Given the description of an element on the screen output the (x, y) to click on. 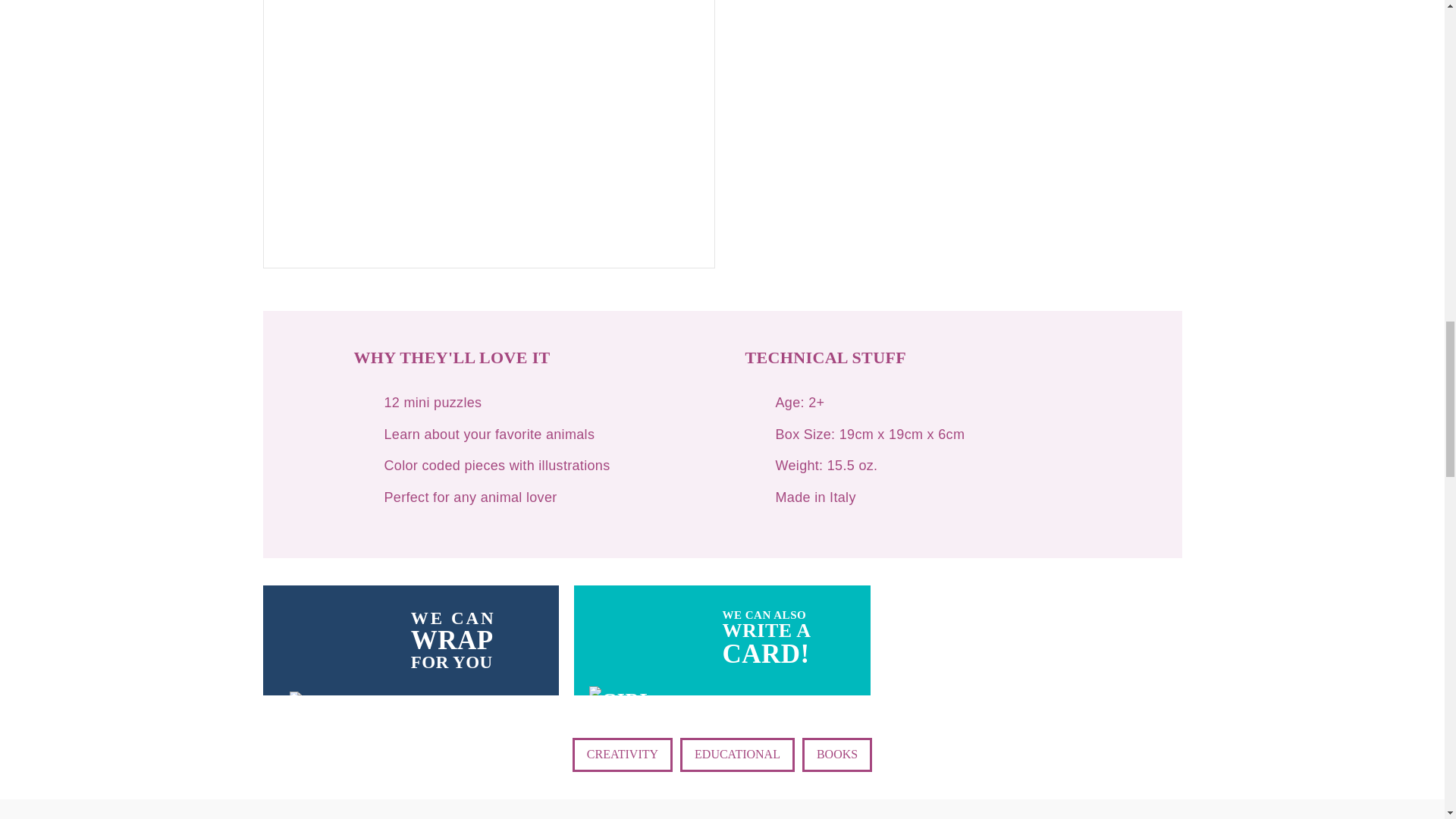
Wicked Uncle's Gift Wrap (488, 134)
